Given the description of an element on the screen output the (x, y) to click on. 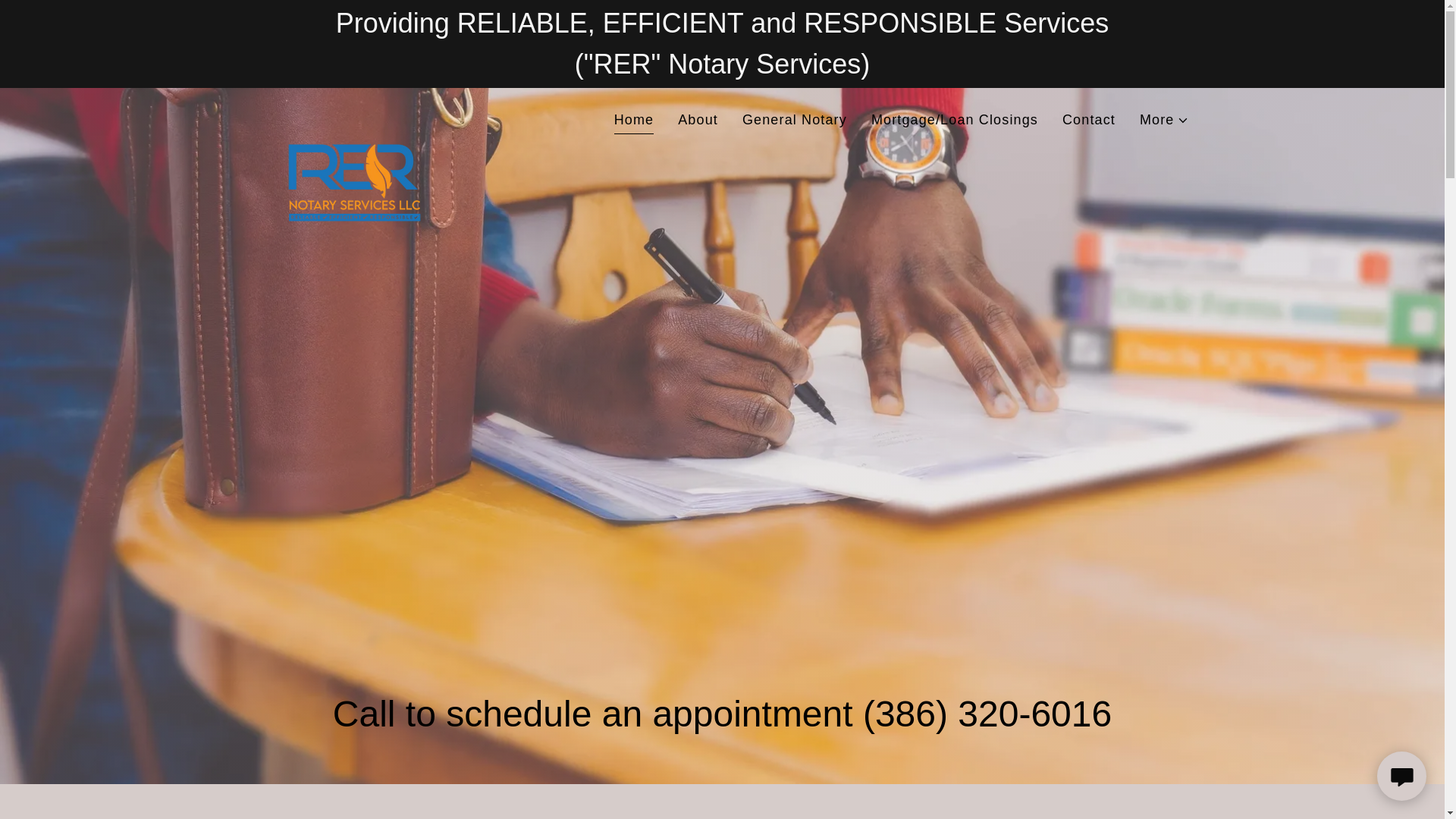
Contact (1088, 120)
About (697, 120)
More (1164, 119)
Home (633, 121)
General Notary (794, 120)
